Given the description of an element on the screen output the (x, y) to click on. 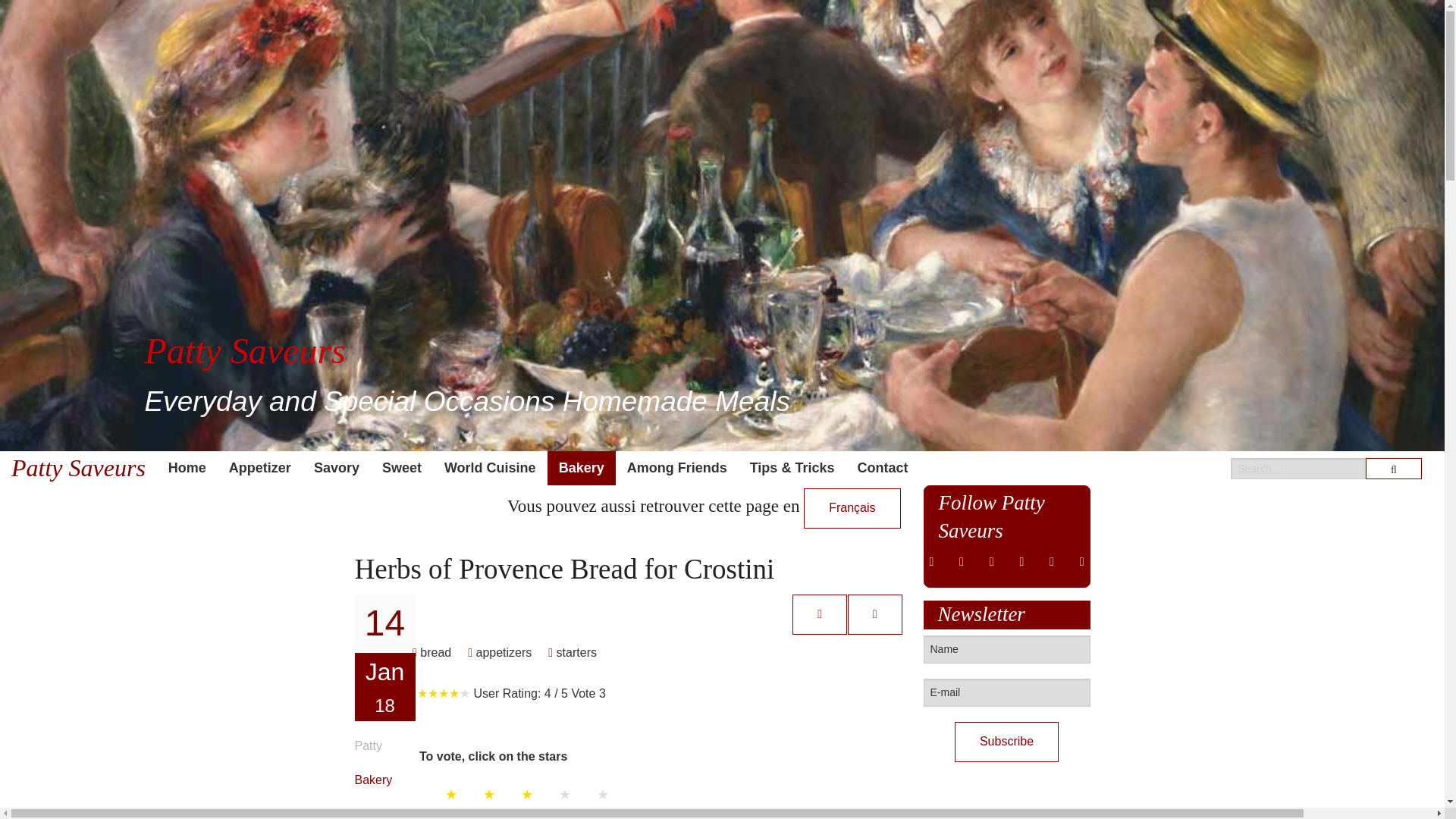
Name (1006, 649)
starters (571, 652)
World Cuisine (489, 468)
Home (186, 468)
Patty Saveurs (78, 468)
Contact (881, 468)
appetizers (499, 652)
Rate (448, 813)
Bakery (374, 779)
Rate (448, 813)
Subscribe (1006, 741)
Appetizer (259, 468)
Savory (336, 468)
Sweet (401, 468)
bread (431, 652)
